Given the description of an element on the screen output the (x, y) to click on. 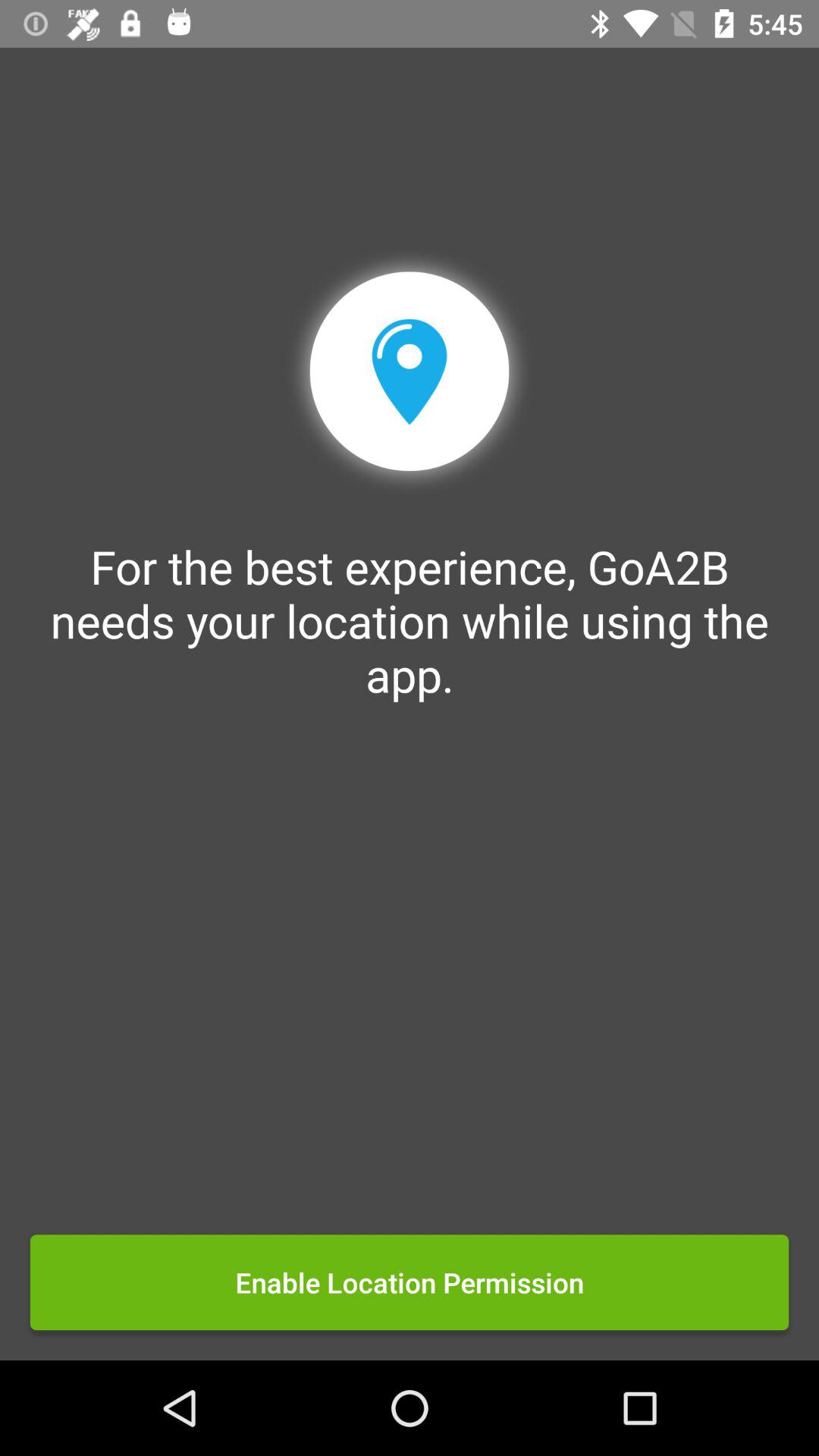
turn off the enable location permission icon (409, 1282)
